Given the description of an element on the screen output the (x, y) to click on. 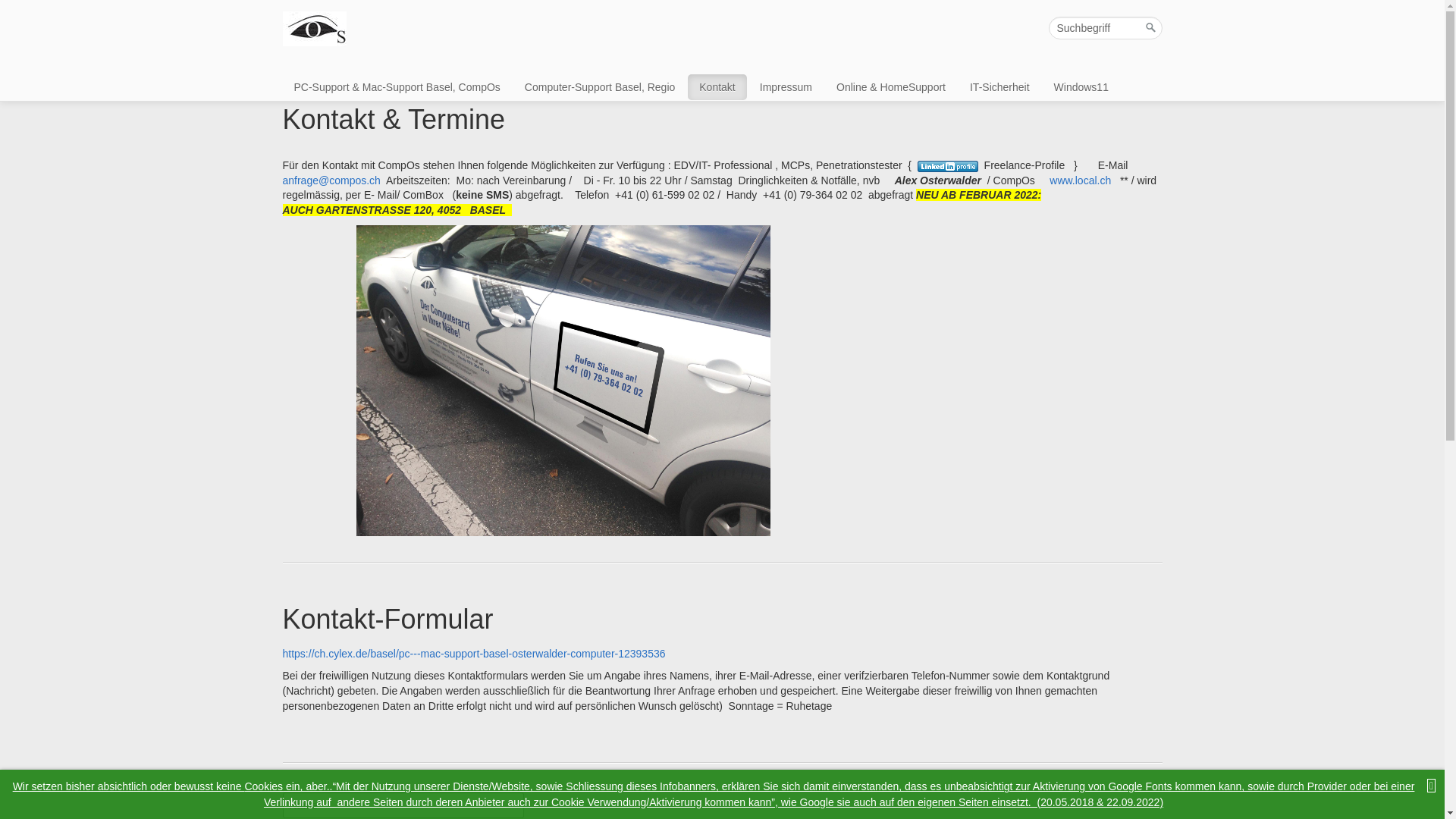
Kontakt Element type: text (716, 87)
Windows11 Element type: text (1081, 87)
anfrage@compos.ch Element type: text (330, 180)
www.local.ch Element type: text (1079, 180)
PC-Support & Mac-Support Basel, CompOs Element type: text (396, 87)
Computer-Support Basel, Regio Element type: text (599, 87)
Cookies Element type: text (263, 786)
Online & HomeSupport Element type: text (891, 87)
IT-Sicherheit Element type: text (999, 87)
Impressum Element type: text (785, 87)
